Given the description of an element on the screen output the (x, y) to click on. 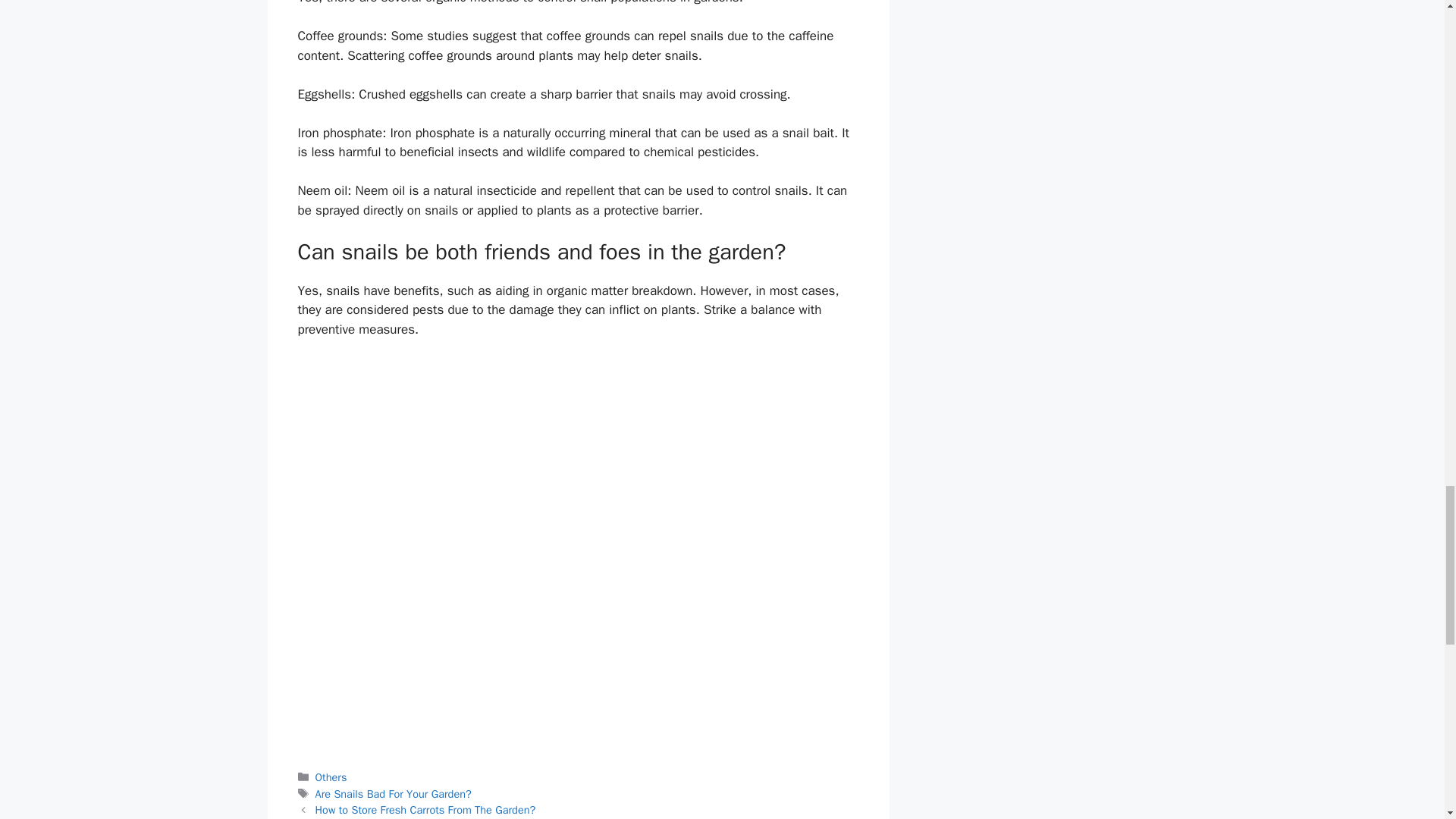
Others (331, 776)
How to Store Fresh Carrots From The Garden? (425, 809)
Are Snails Bad For Your Garden? (393, 793)
